Given the description of an element on the screen output the (x, y) to click on. 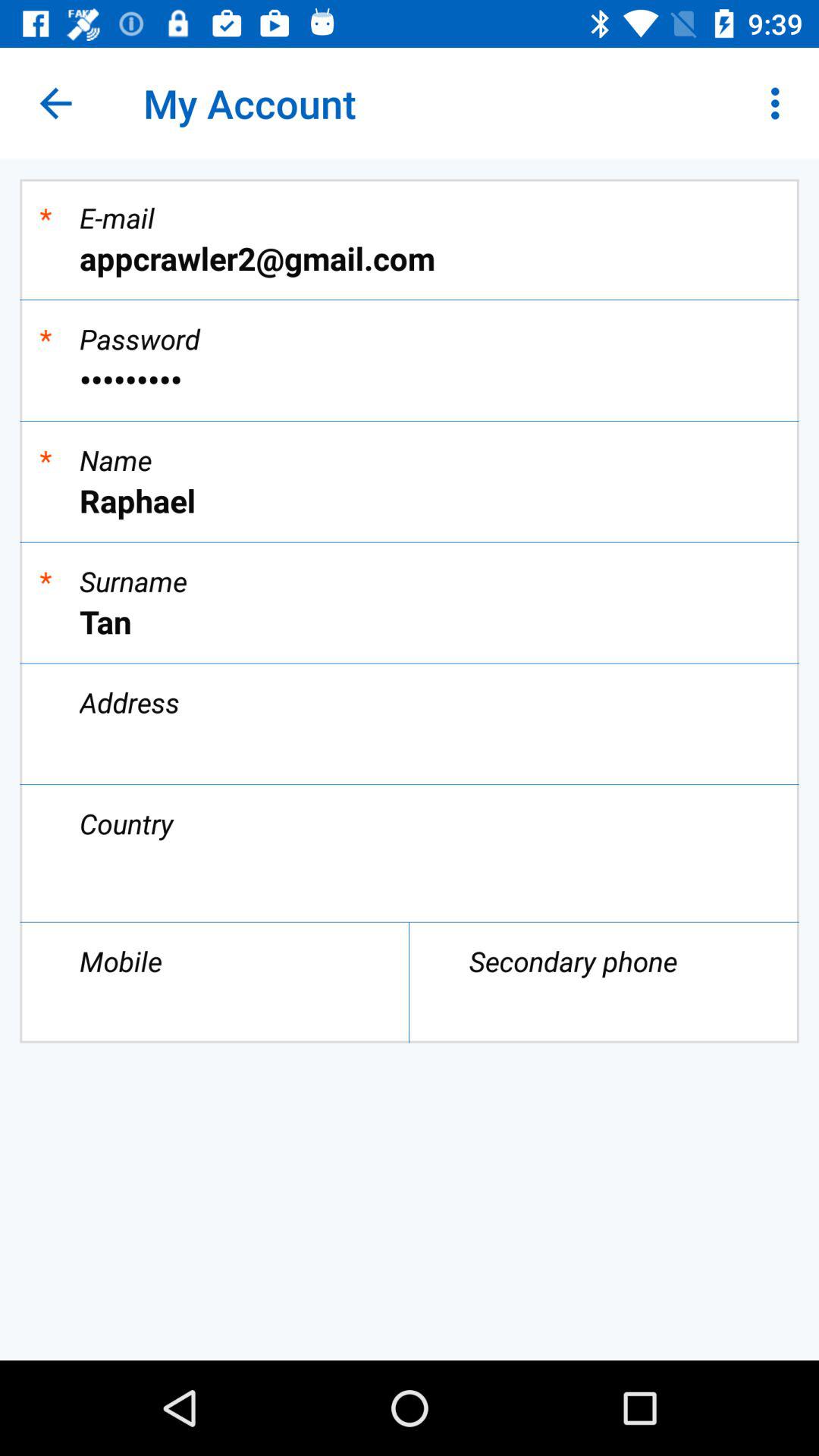
launch item below * icon (409, 378)
